Given the description of an element on the screen output the (x, y) to click on. 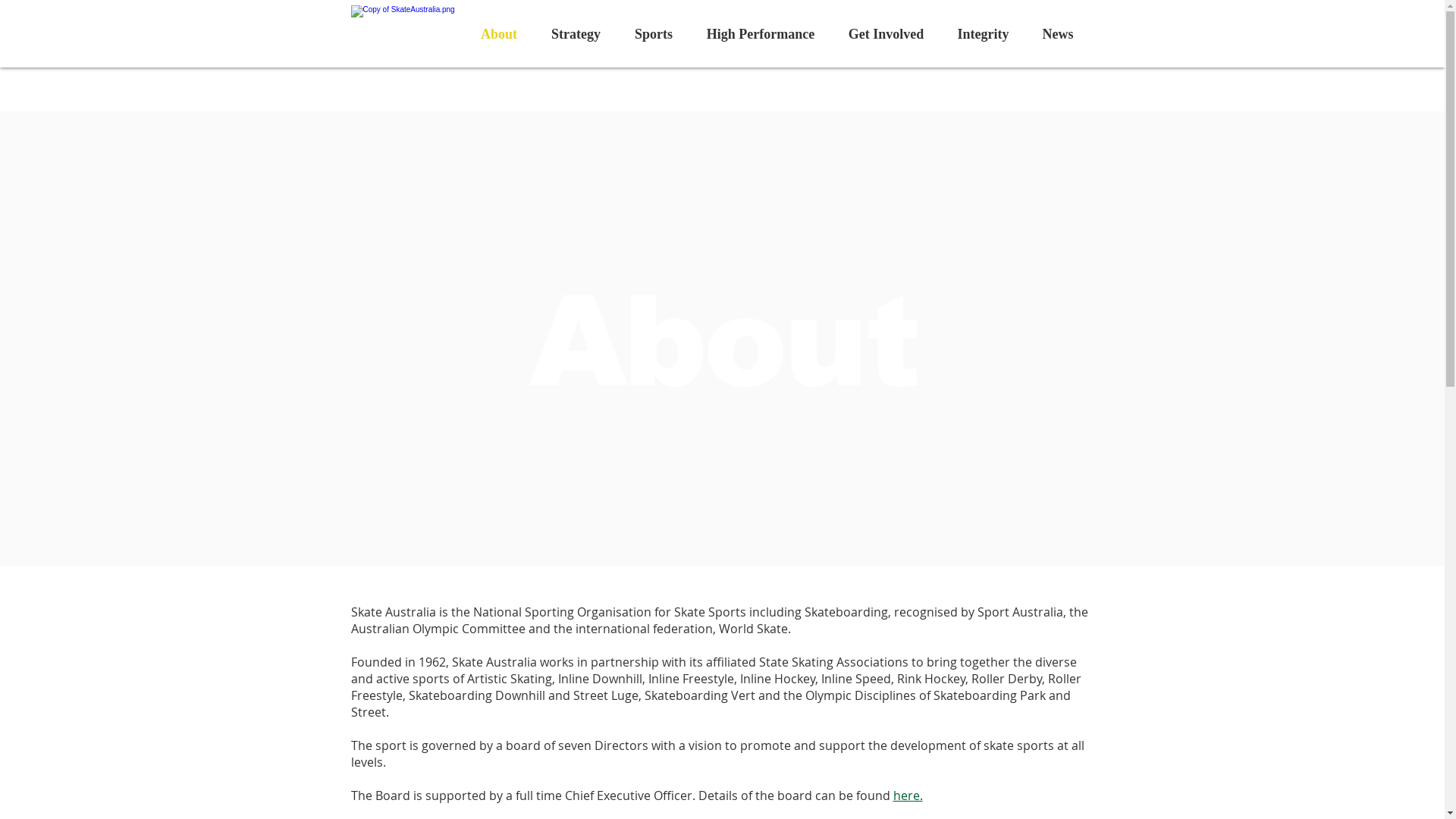
Get Involved Element type: text (885, 34)
News Element type: text (1057, 34)
Strategy Element type: text (575, 34)
here. Element type: text (907, 795)
Sports Element type: text (653, 34)
High Performance Element type: text (760, 34)
Integrity Element type: text (982, 34)
About Element type: text (499, 34)
